Given the description of an element on the screen output the (x, y) to click on. 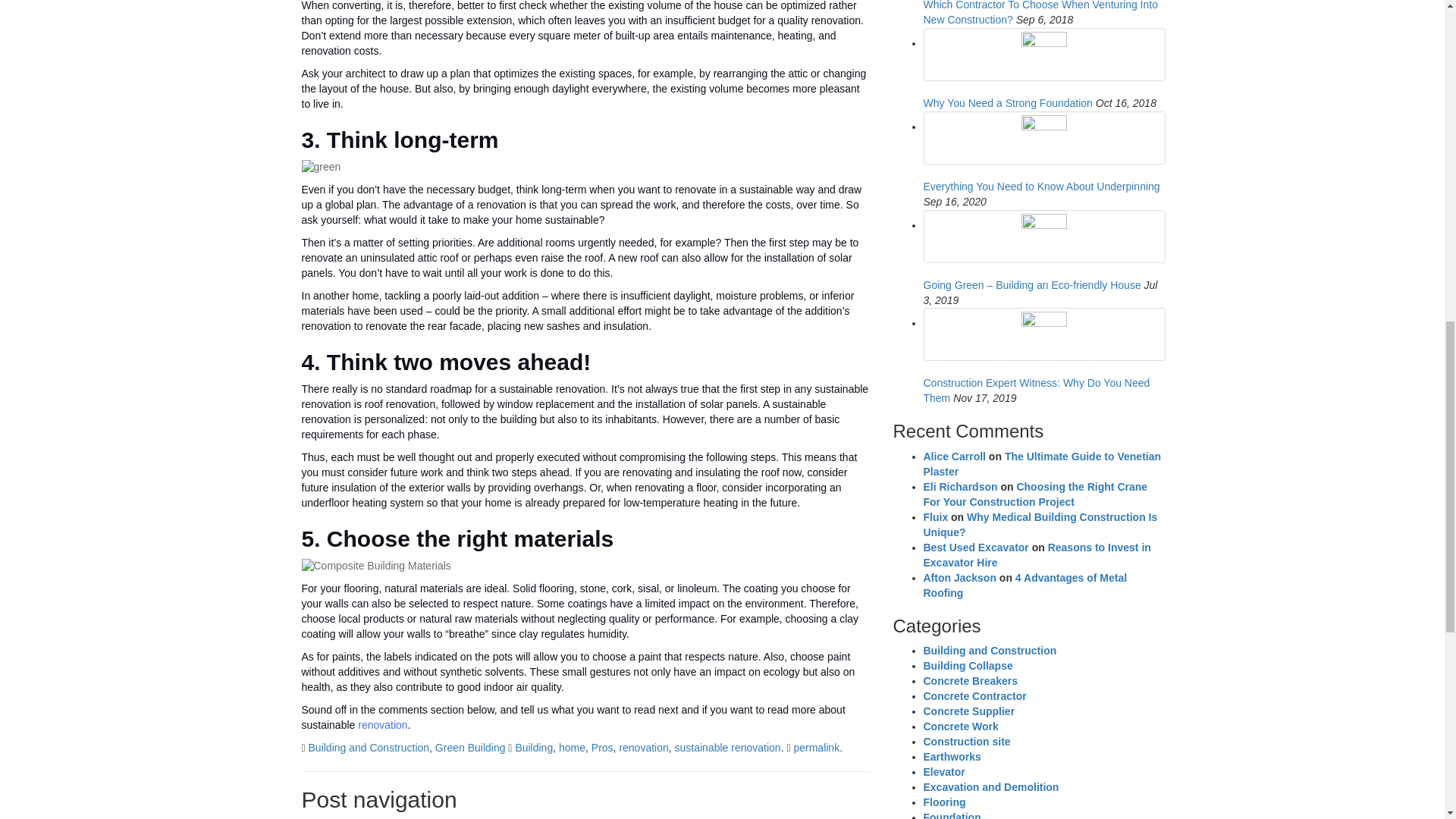
Pros (601, 747)
Building (534, 747)
renovation (643, 747)
Building and Construction (368, 747)
home (572, 747)
permalink (816, 747)
sustainable renovation (727, 747)
renovation (382, 725)
Green Building (470, 747)
